Given the description of an element on the screen output the (x, y) to click on. 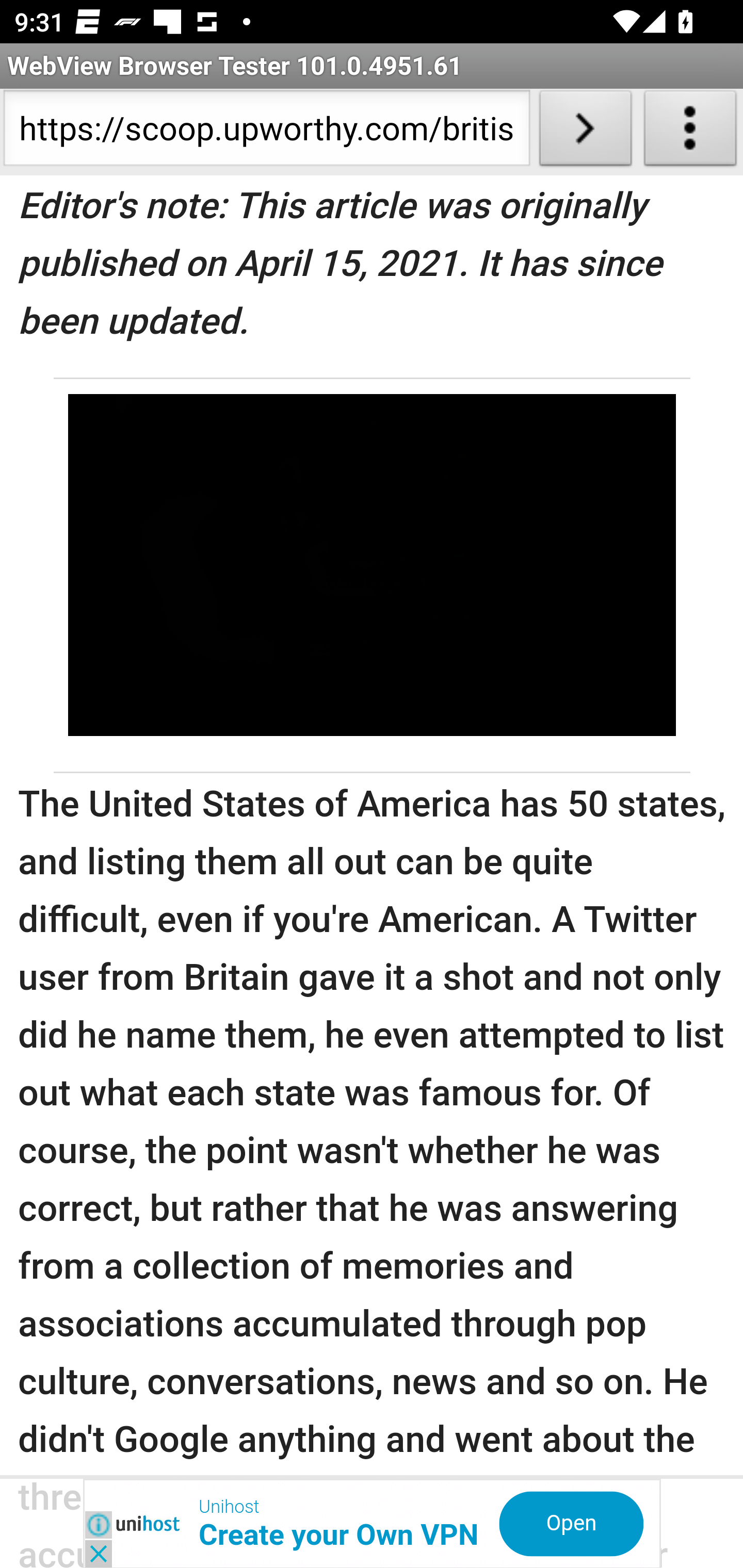
Load URL (585, 132)
About WebView (690, 132)
Celebrities Who Couldn’t Handle Their Fame.mp4 (371, 565)
Open (571, 1525)
Unihost (229, 1508)
Create your Own VРN (339, 1535)
